Given the description of an element on the screen output the (x, y) to click on. 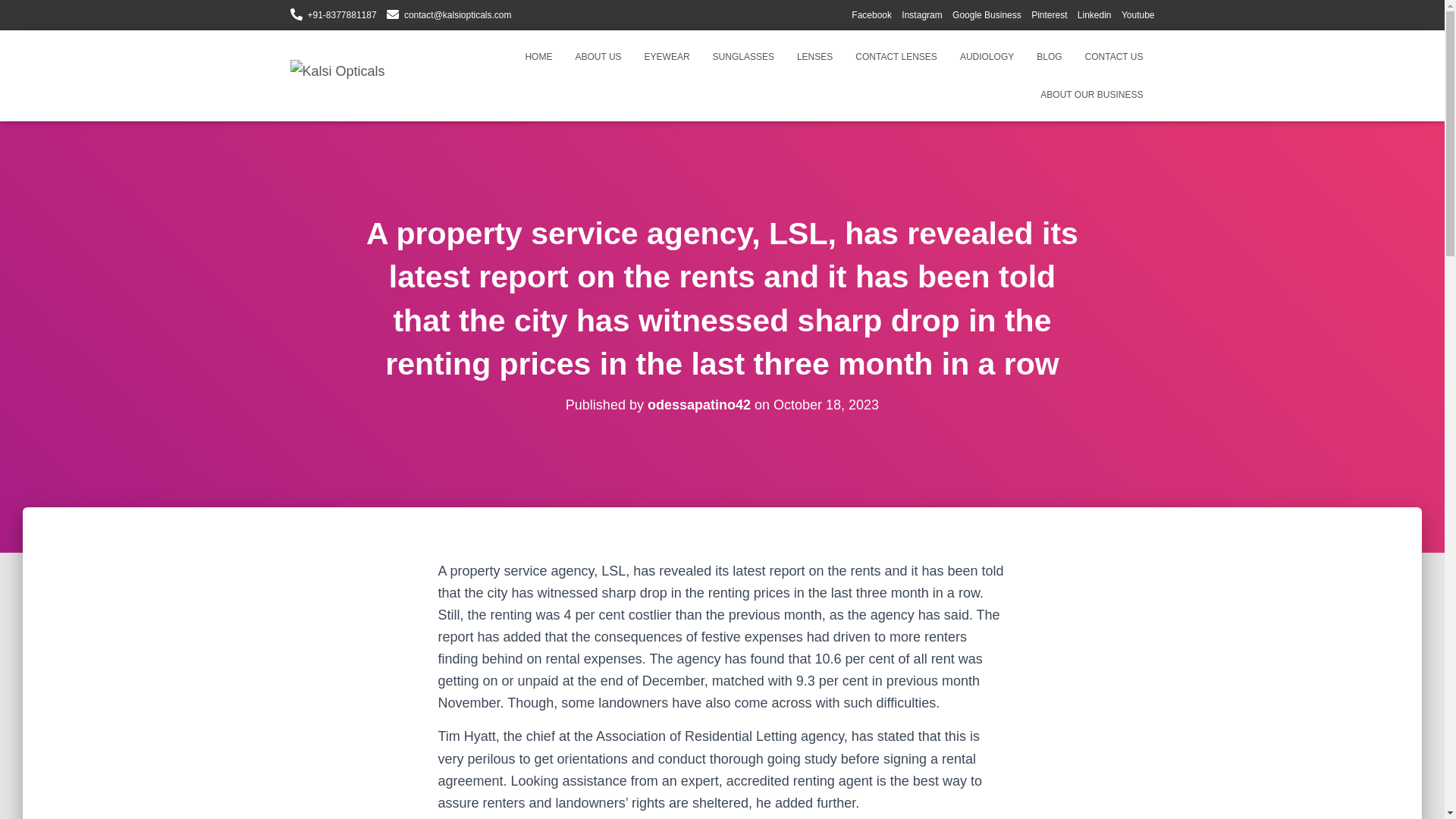
Youtube (1137, 14)
Home (538, 56)
Blog (1049, 56)
Facebook (871, 14)
SUNGLASSES (743, 56)
Linkedin (1094, 14)
Lenses (815, 56)
ABOUT US (597, 56)
Sunglasses (743, 56)
CONTACT LENSES (896, 56)
AUDIOLOGY (987, 56)
Contact Lenses (896, 56)
ABOUT OUR BUSINESS (1091, 94)
About Our Business (1091, 94)
odessapatino42 (699, 404)
